Given the description of an element on the screen output the (x, y) to click on. 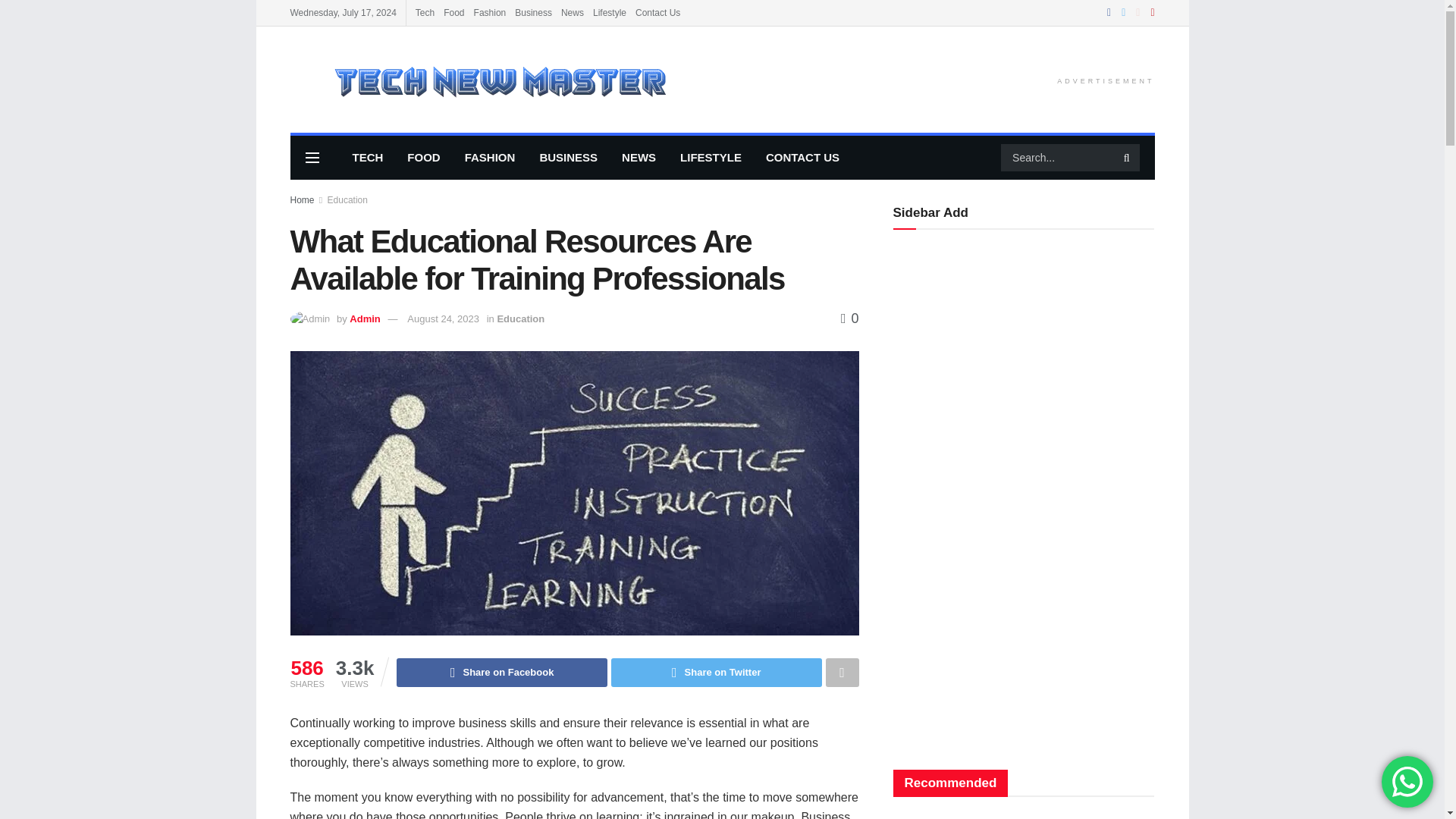
BUSINESS (568, 157)
Lifestyle (609, 12)
NEWS (639, 157)
CONTACT US (802, 157)
Business (533, 12)
Contact Us (656, 12)
Fashion (490, 12)
TECH (366, 157)
August 24, 2023 (443, 318)
Education (347, 199)
Admin (364, 318)
WhatsApp us (1406, 781)
LIFESTYLE (711, 157)
FASHION (489, 157)
FOOD (422, 157)
